Given the description of an element on the screen output the (x, y) to click on. 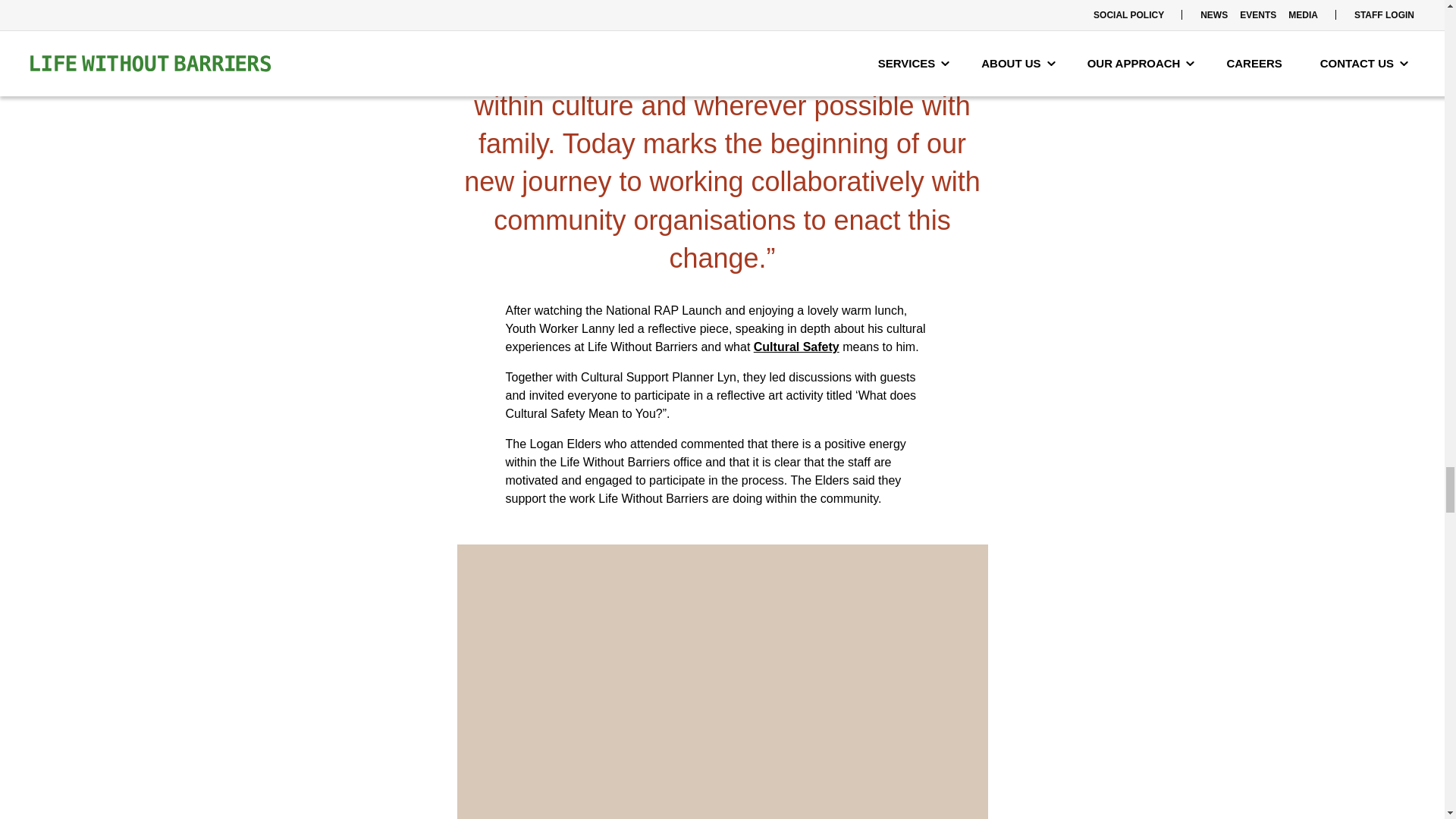
Cultural Safety (797, 346)
